Given the description of an element on the screen output the (x, y) to click on. 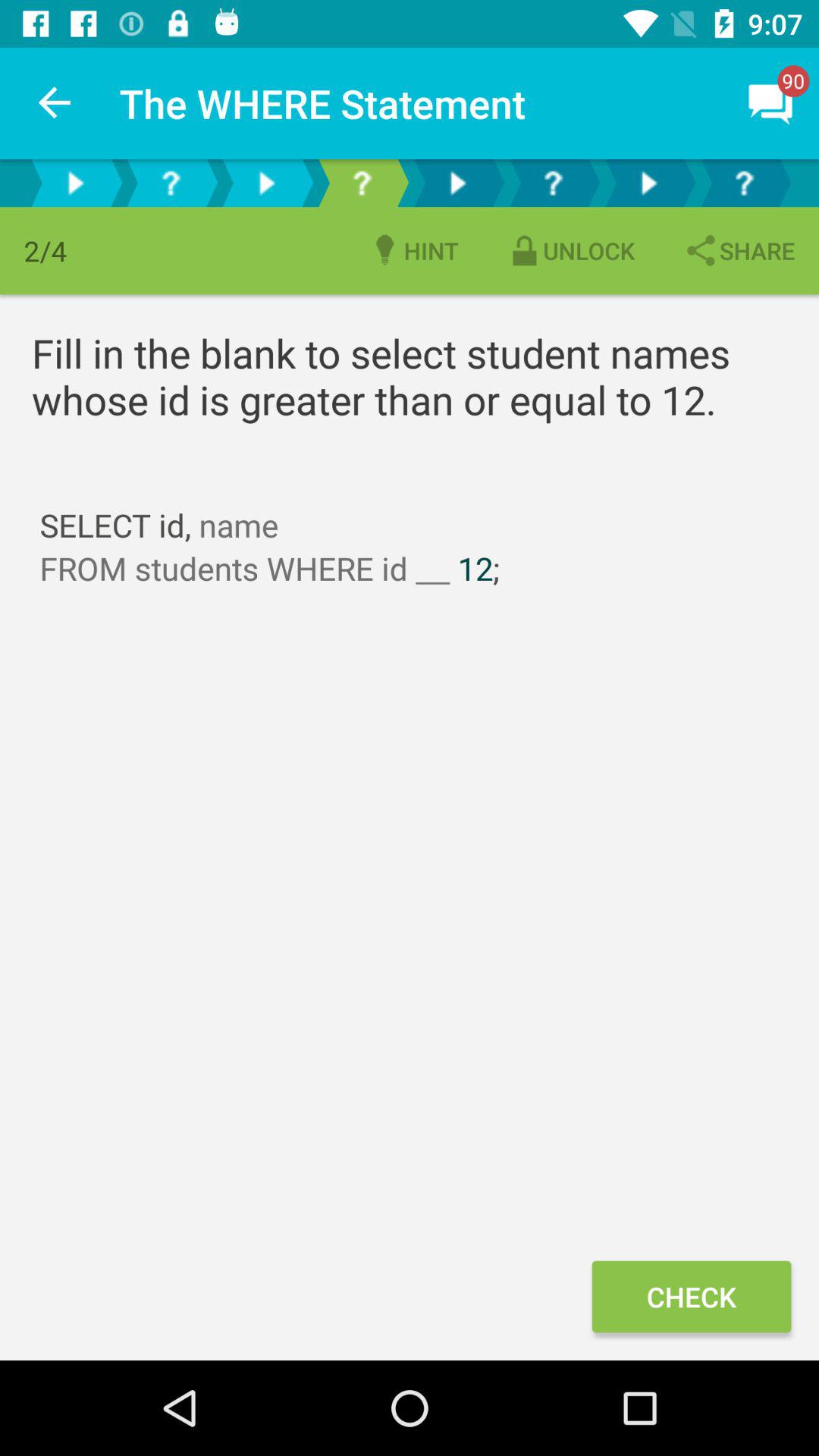
play button (457, 183)
